Given the description of an element on the screen output the (x, y) to click on. 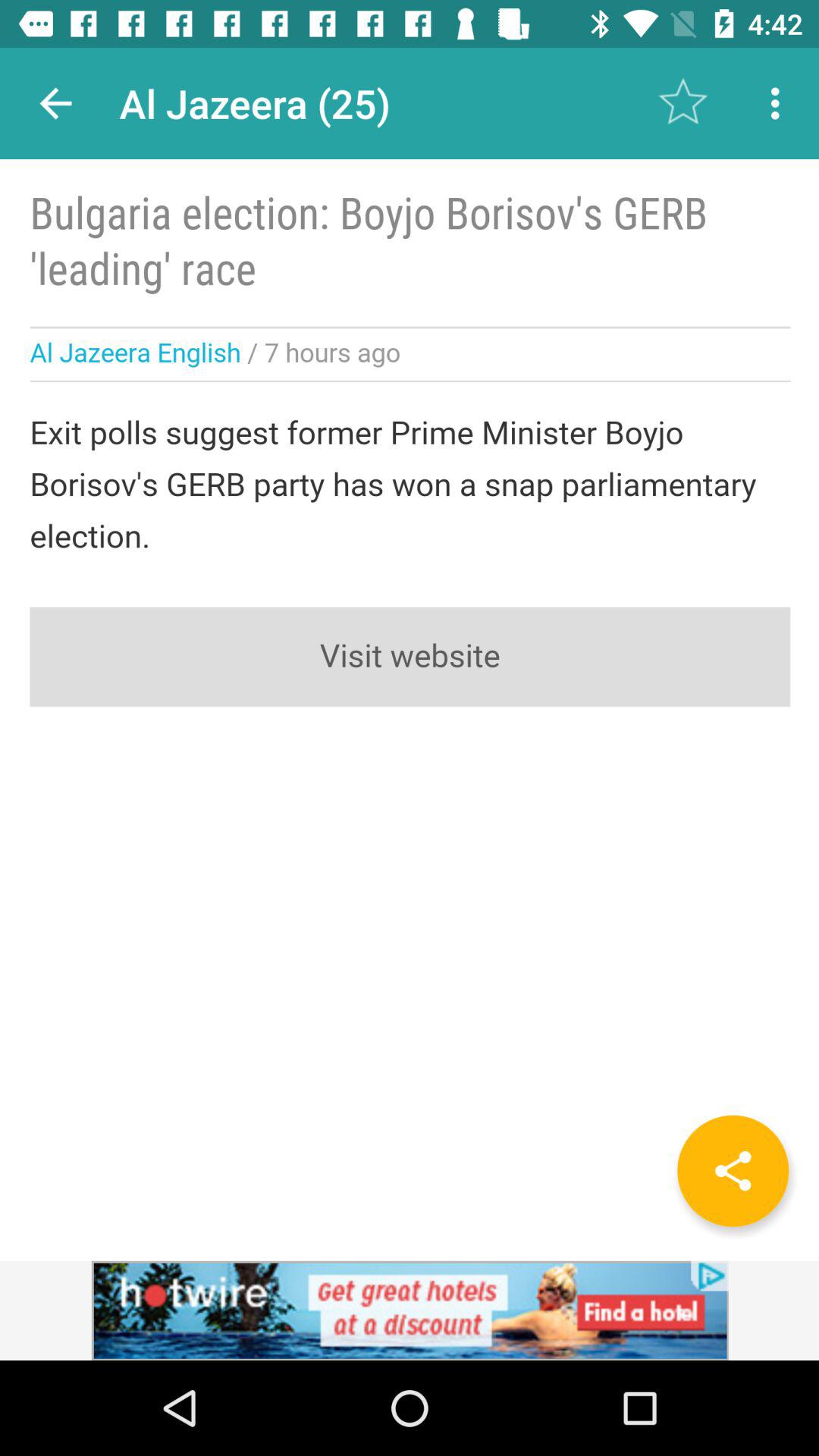
share (733, 1171)
